Given the description of an element on the screen output the (x, y) to click on. 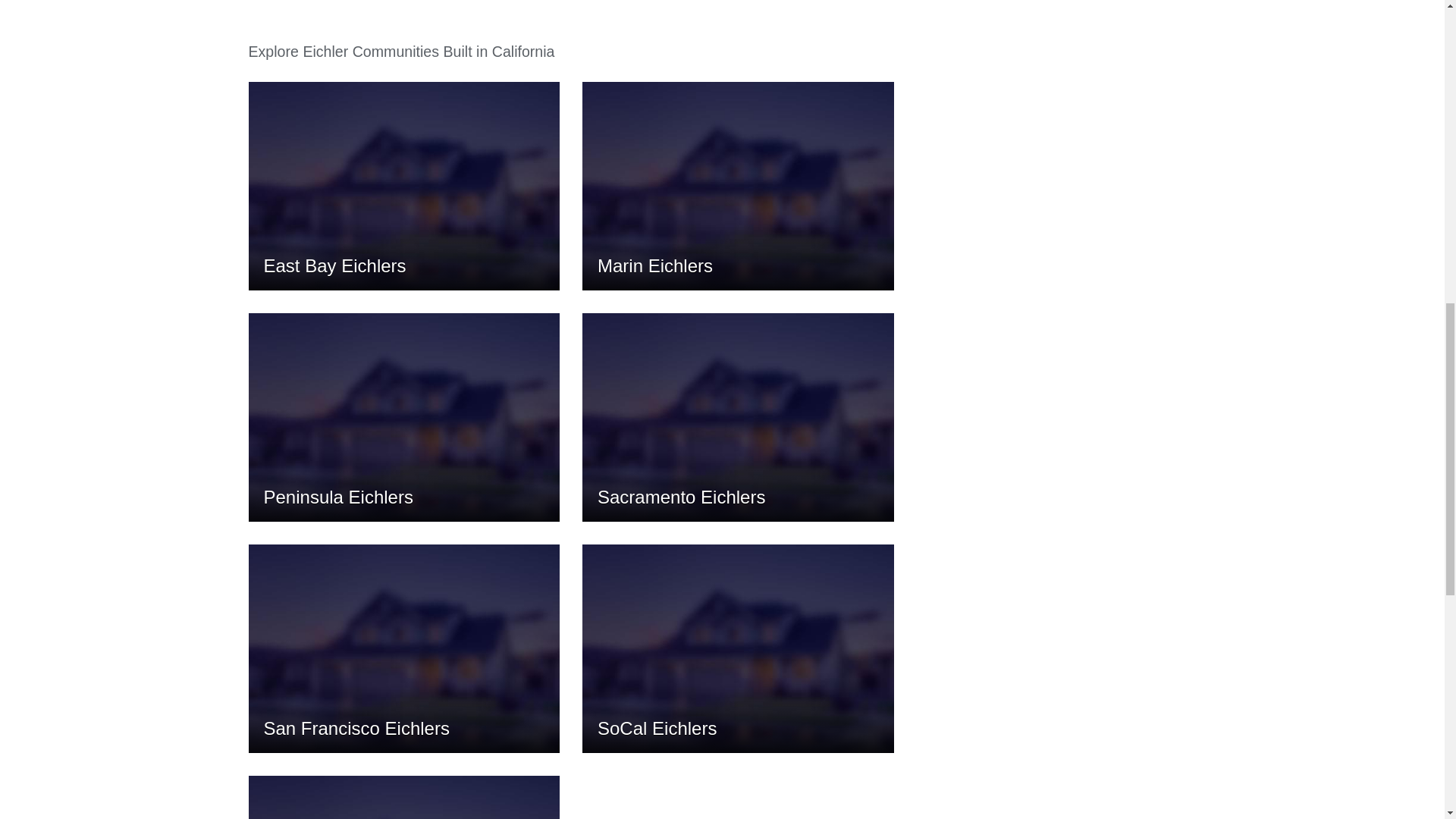
View Peninsula Eichlers (404, 416)
View San Francisco Eichlers (404, 648)
View SoCal Eichlers (737, 648)
View Sacramento Eichlers (737, 416)
View South Bay Eichlers (404, 797)
View Marin Eichlers (737, 185)
View East Bay Eichlers (404, 185)
